Given the description of an element on the screen output the (x, y) to click on. 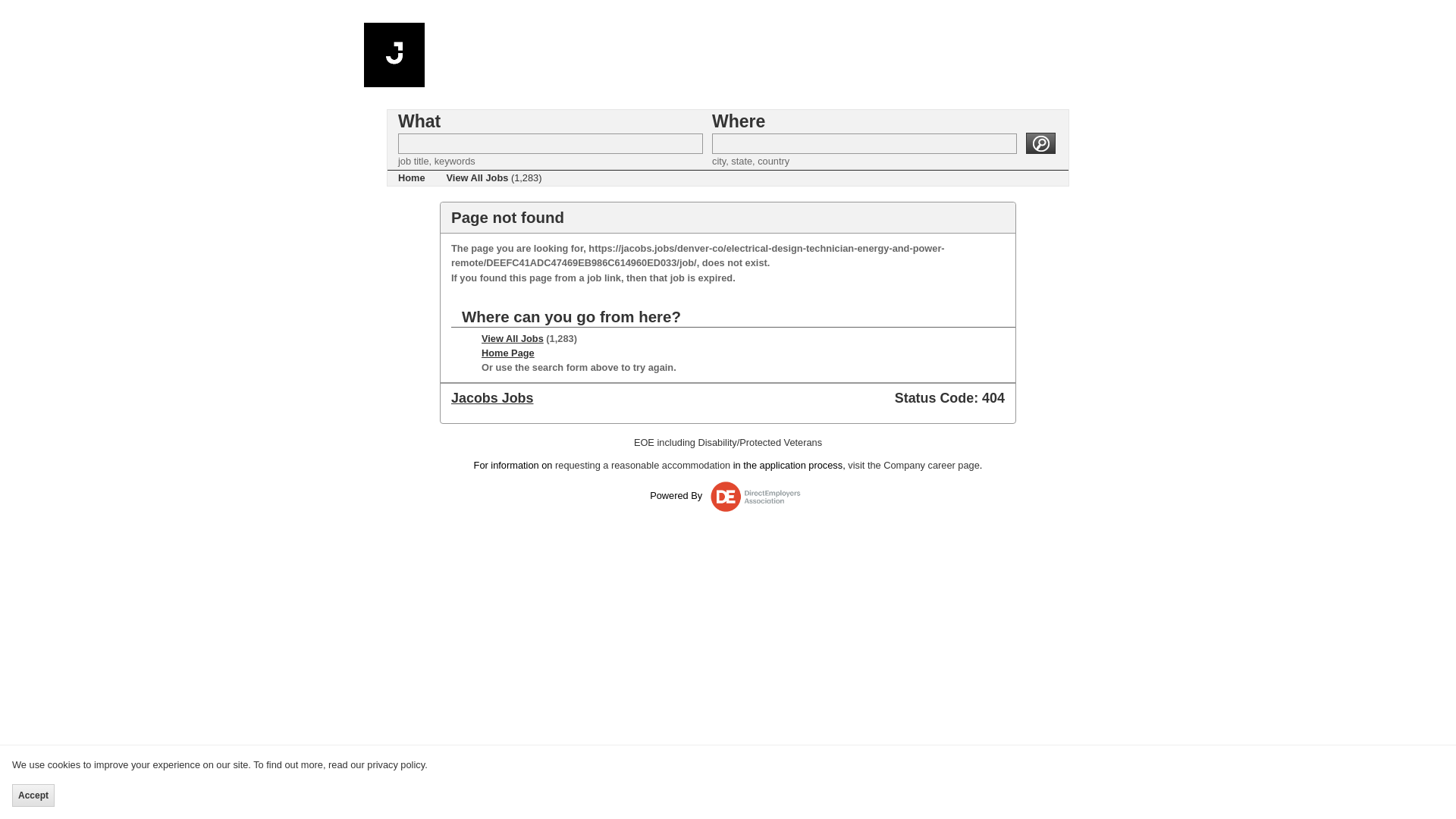
requesting a reasonable accommodation (642, 464)
Home (411, 177)
Search Phrase (550, 143)
search (1040, 142)
Submit Search (1040, 142)
Search Location (863, 143)
View All Jobs (512, 337)
search (1040, 142)
Jacobs Jobs (491, 397)
visit the Company career page (913, 464)
Home Page (507, 352)
